Given the description of an element on the screen output the (x, y) to click on. 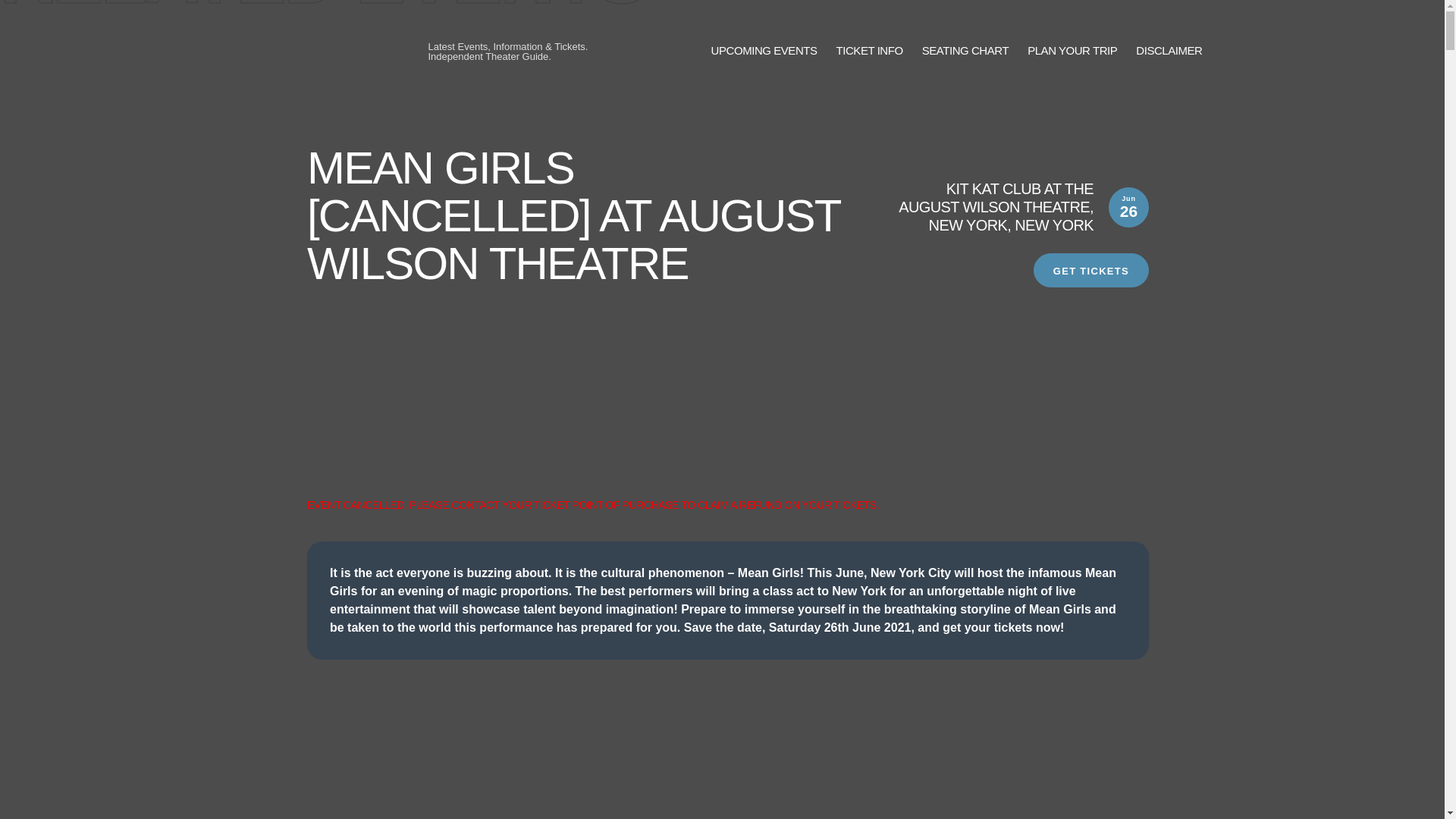
GET TICKETS (1090, 270)
UPCOMING EVENTS (763, 50)
TICKET INFO (868, 50)
SEATING CHART (965, 50)
DISCLAIMER (1168, 50)
PLAN YOUR TRIP (1071, 50)
